Given the description of an element on the screen output the (x, y) to click on. 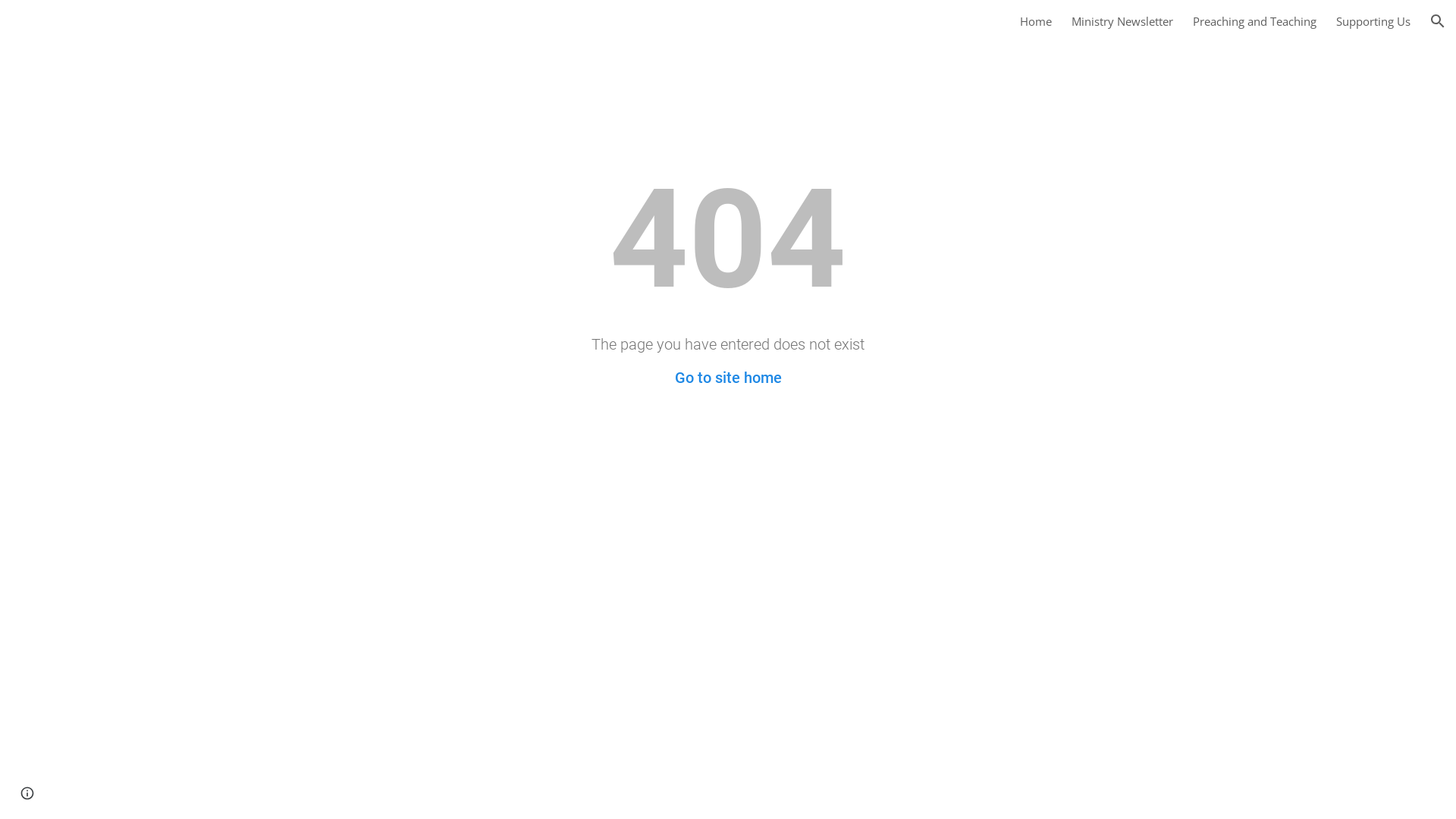
Ministry Newsletter Element type: text (1122, 20)
Supporting Us Element type: text (1373, 20)
Preaching and Teaching Element type: text (1254, 20)
Go to site home Element type: text (727, 377)
Home Element type: text (1035, 20)
